Given the description of an element on the screen output the (x, y) to click on. 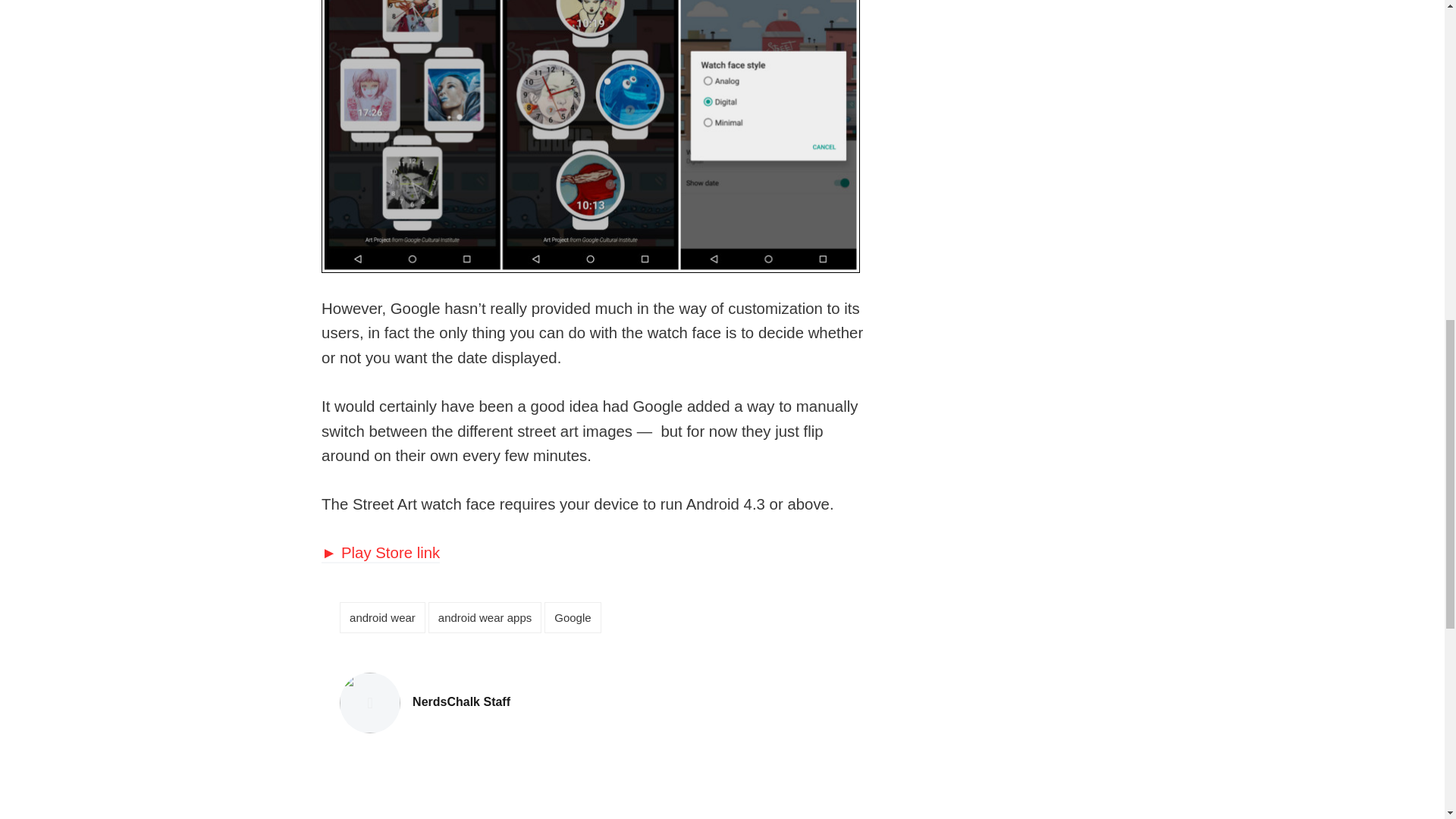
android wear apps (484, 617)
Google (571, 617)
android wear (461, 702)
